Given the description of an element on the screen output the (x, y) to click on. 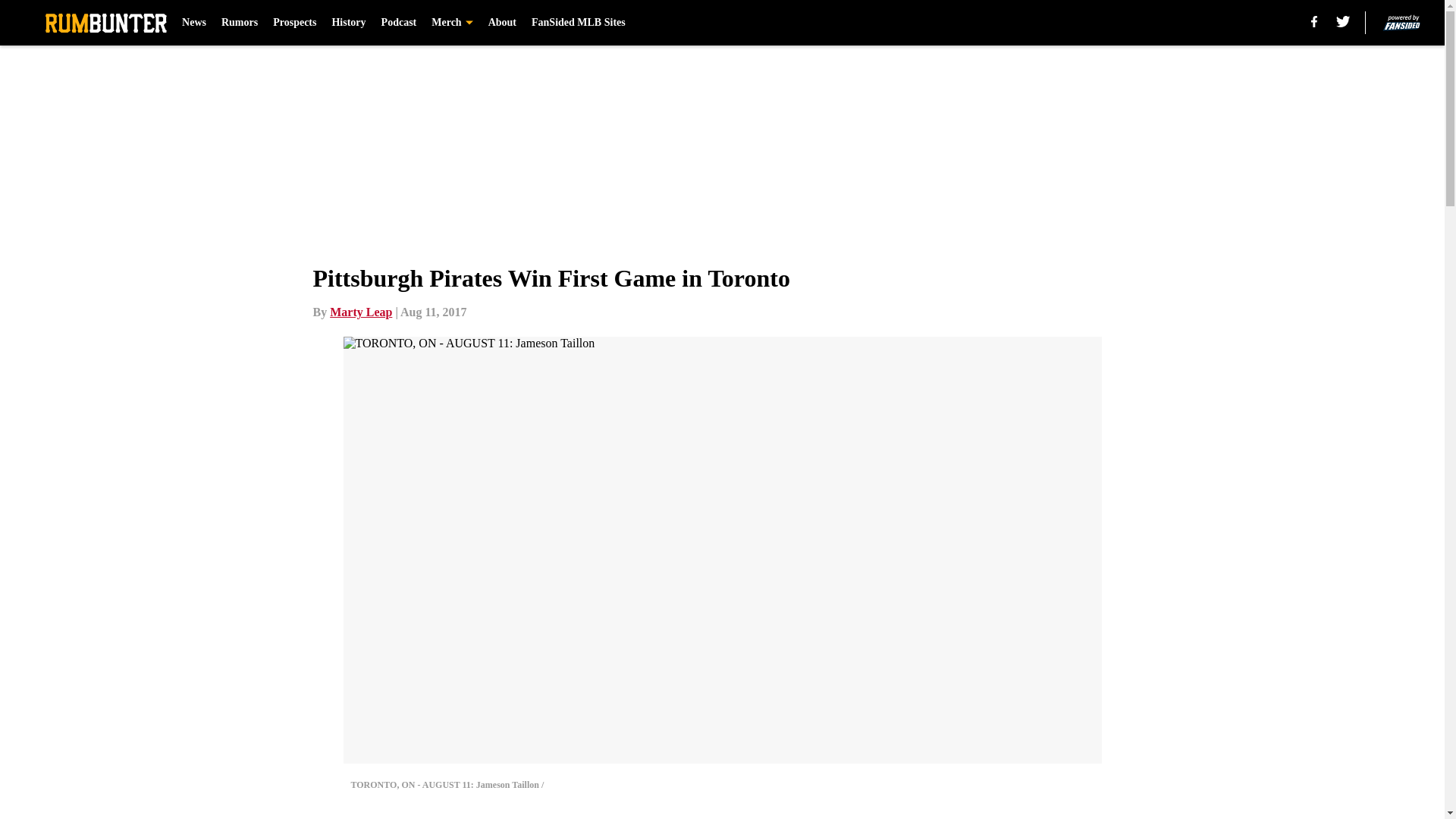
News (194, 22)
About (501, 22)
Rumors (239, 22)
FanSided MLB Sites (578, 22)
Prospects (294, 22)
History (348, 22)
Marty Leap (360, 311)
Podcast (398, 22)
